Given the description of an element on the screen output the (x, y) to click on. 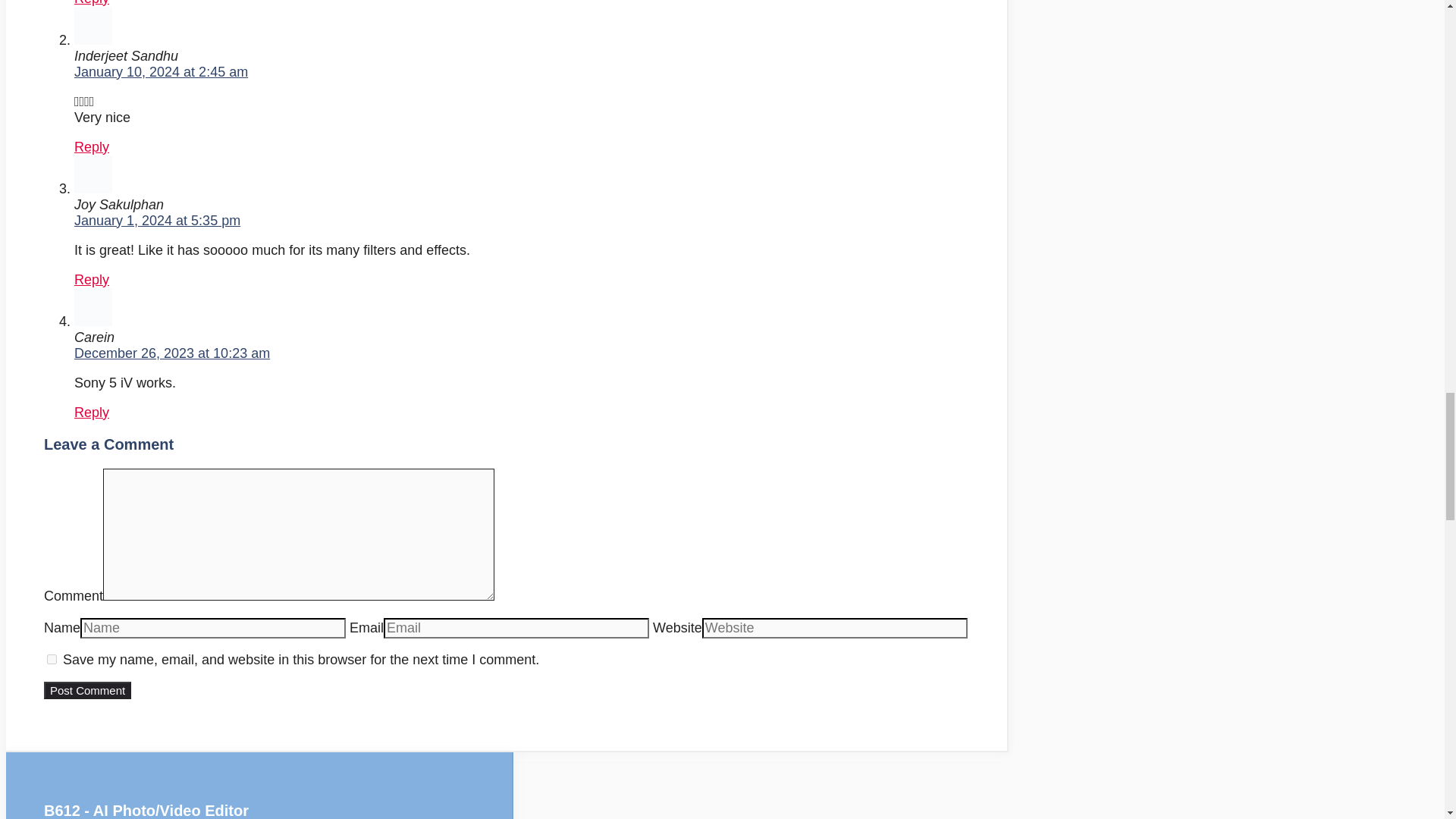
Post Comment (87, 690)
yes (51, 659)
January 10, 2024 at 2:45 am (160, 71)
January 1, 2024 at 5:35 pm (157, 220)
Reply (91, 412)
Reply (91, 279)
Post Comment (87, 690)
December 26, 2023 at 10:23 am (171, 353)
Reply (91, 2)
Reply (91, 146)
